Given the description of an element on the screen output the (x, y) to click on. 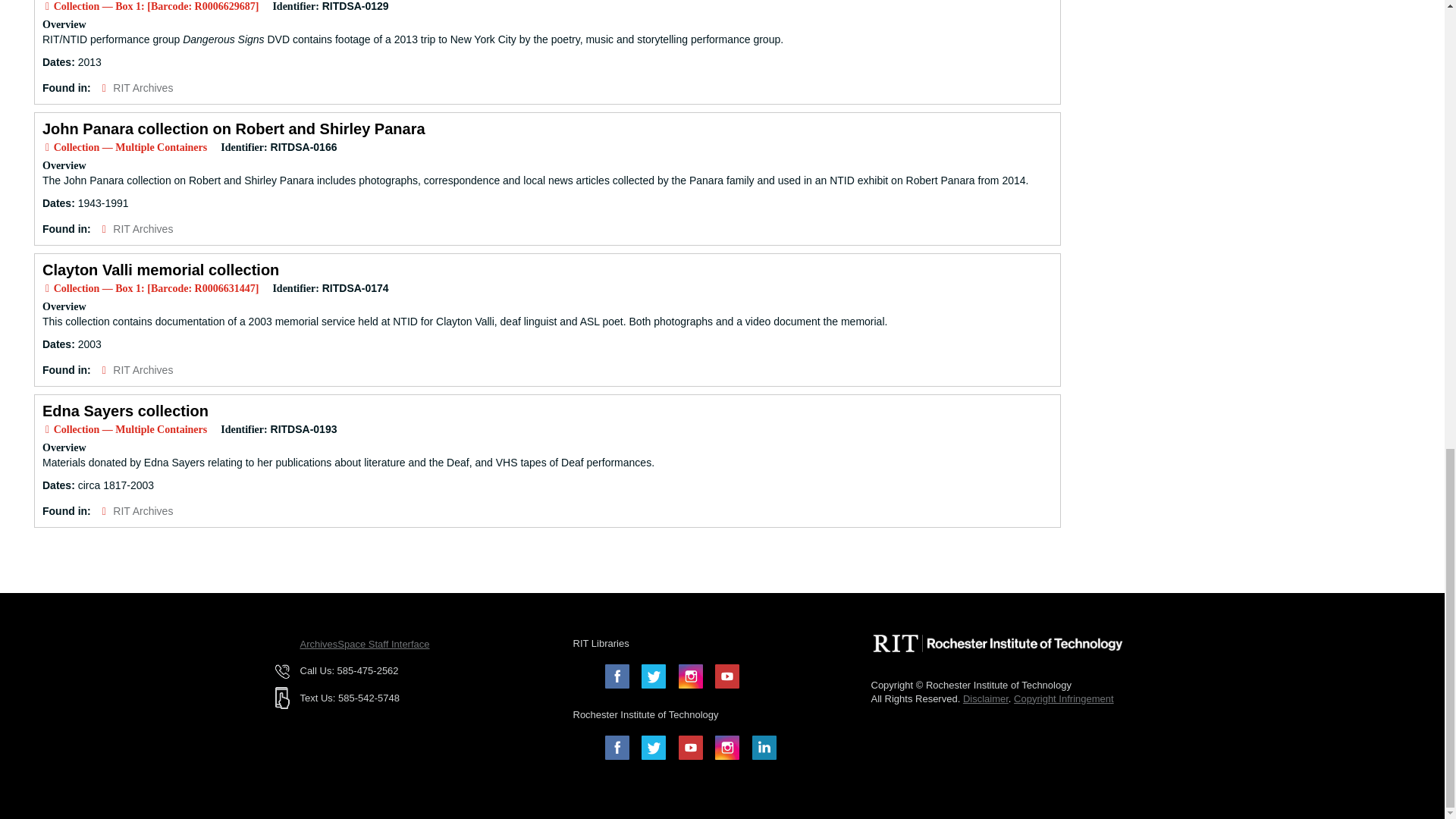
John Panara collection on Robert and Shirley Panara (233, 128)
RIT Archives (143, 510)
RIT Archives (143, 87)
RIT Archives (143, 228)
Clayton Valli memorial collection (160, 269)
Edna Sayers collection (125, 410)
RIT Archives (143, 369)
